Given the description of an element on the screen output the (x, y) to click on. 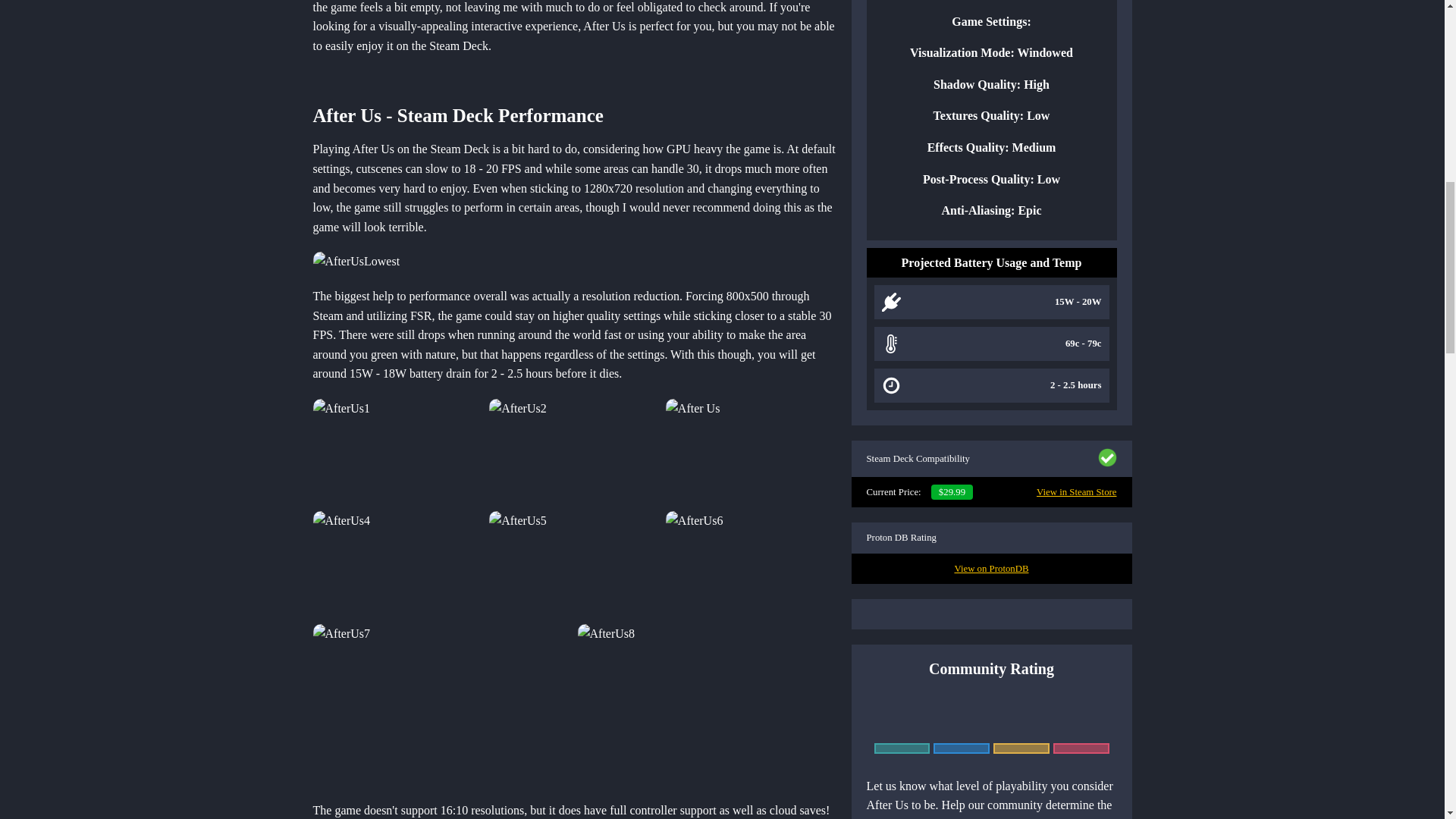
After Us 7 (750, 564)
After Us 2 (398, 451)
After Us 3 (574, 451)
After Us 4 (750, 451)
After Us 6 (574, 564)
After Us 9 (706, 704)
After Us 1 (355, 261)
View in Steam Store (1076, 491)
View on ProtonDB (990, 568)
After Us 5 (398, 564)
